Given the description of an element on the screen output the (x, y) to click on. 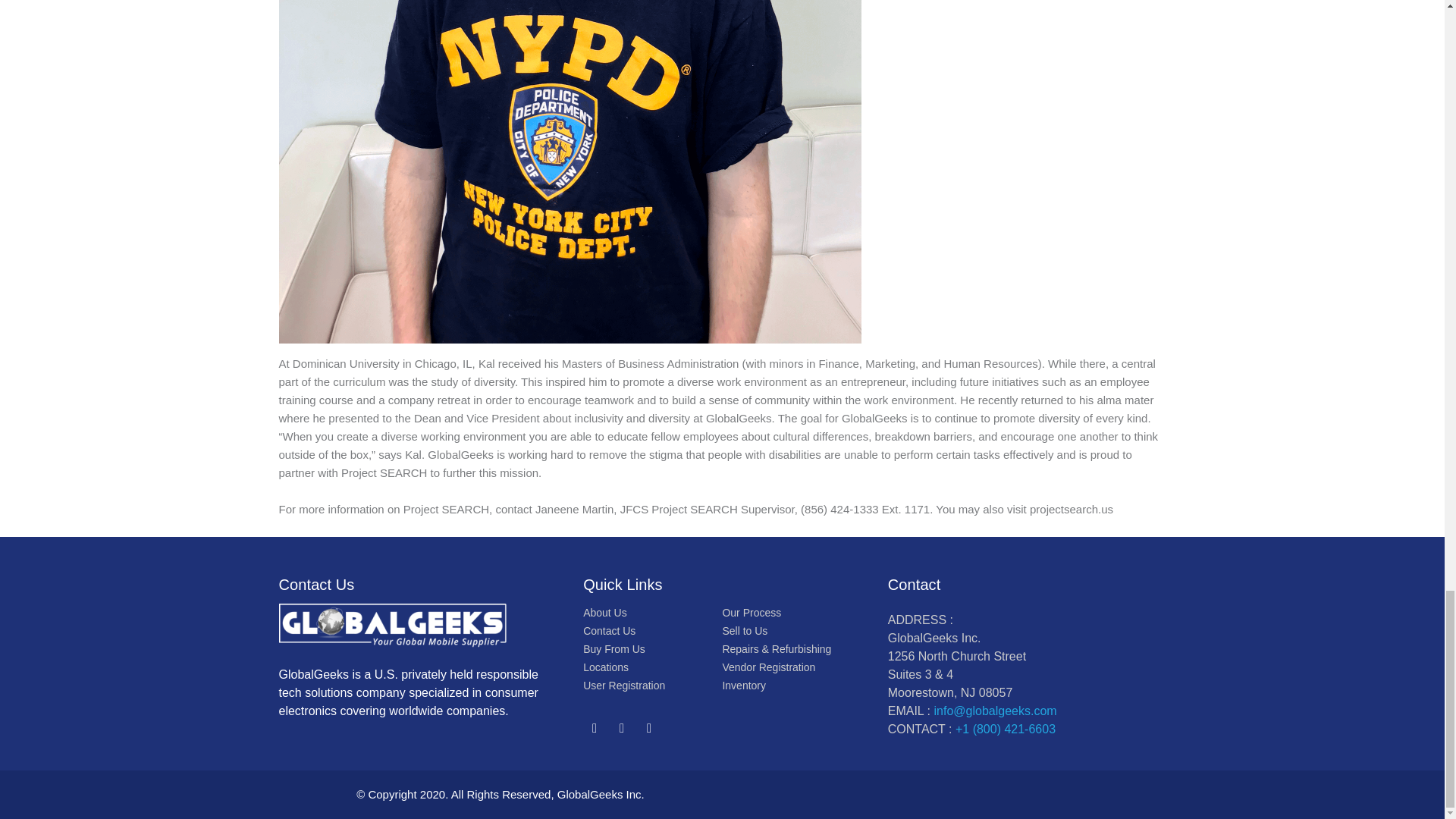
Sell to Us (744, 630)
linkedin (649, 728)
Our Process (751, 612)
Contact Us (608, 630)
User Registration (624, 685)
Buy From Us (614, 648)
Locations (605, 667)
Vendor Registration (768, 667)
twitter (594, 728)
About Us (605, 612)
Inventory (743, 685)
facebook (621, 728)
